Given the description of an element on the screen output the (x, y) to click on. 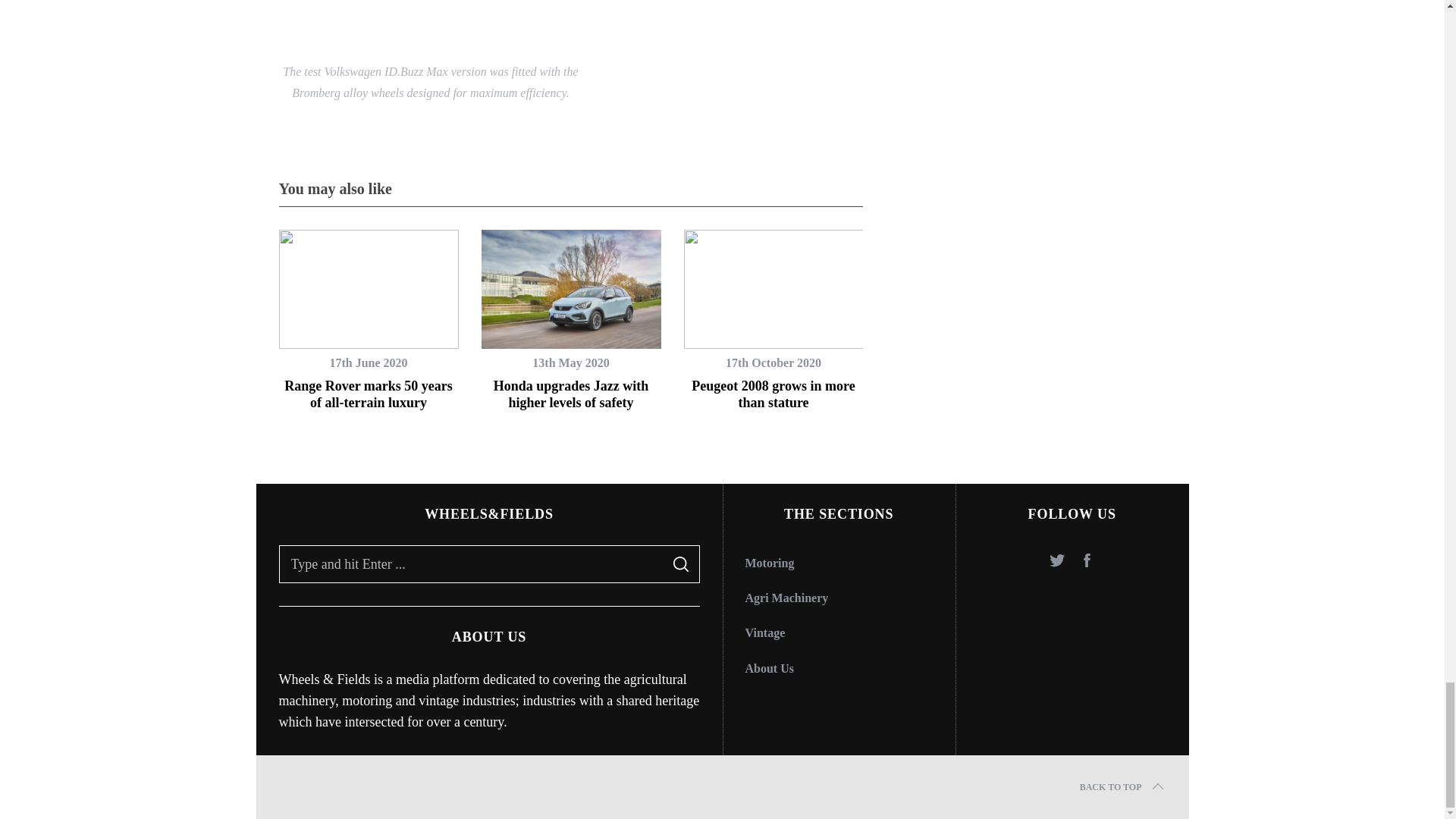
Peugeot 2008 grows in more than stature (772, 394)
Range Rover marks 50 years of all-terrain luxury (367, 394)
Honda upgrades Jazz with higher levels of safety (571, 394)
